Given the description of an element on the screen output the (x, y) to click on. 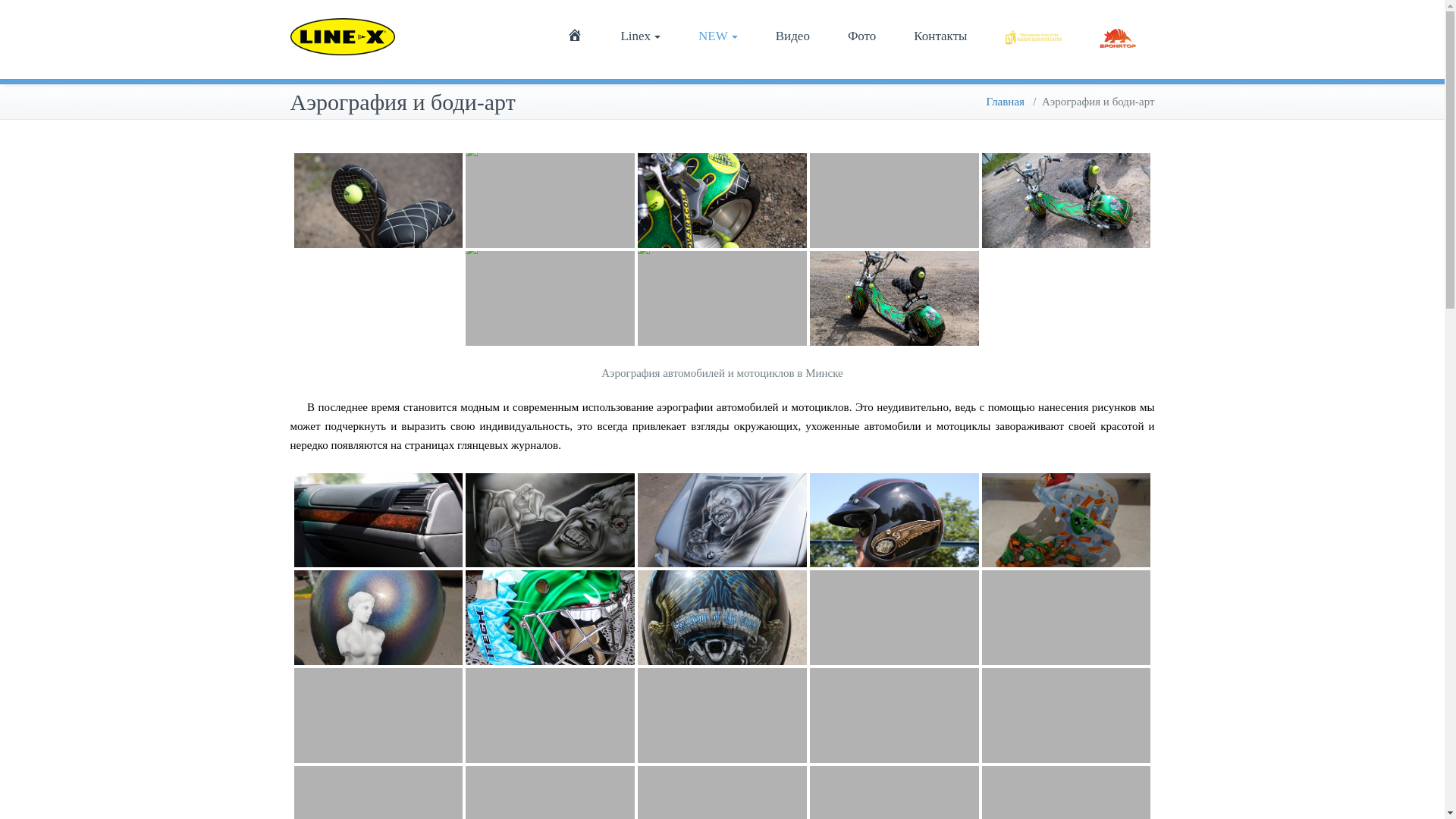
NEW Element type: text (717, 36)
abvalcompany Element type: text (1032, 36)
Samokat_03 Element type: hover (549, 297)
Samokat_06 Element type: hover (721, 200)
Samokat Element type: hover (894, 297)
IMG_0006 Element type: hover (894, 520)
Linex Element type: text (640, 36)
Samokat_08 Element type: hover (378, 200)
IMG_9006 Element type: hover (721, 617)
IMG_20140516_162827 Element type: hover (549, 617)
IMG_2097 Element type: hover (721, 715)
DSC00008 Element type: hover (378, 617)
Samokat_04 Element type: hover (1066, 200)
Samokat_07 Element type: hover (549, 200)
Samokat_05 Element type: hover (894, 200)
DSC00038 Element type: hover (1066, 520)
Samokat_02 Element type: hover (721, 297)
